Given the description of an element on the screen output the (x, y) to click on. 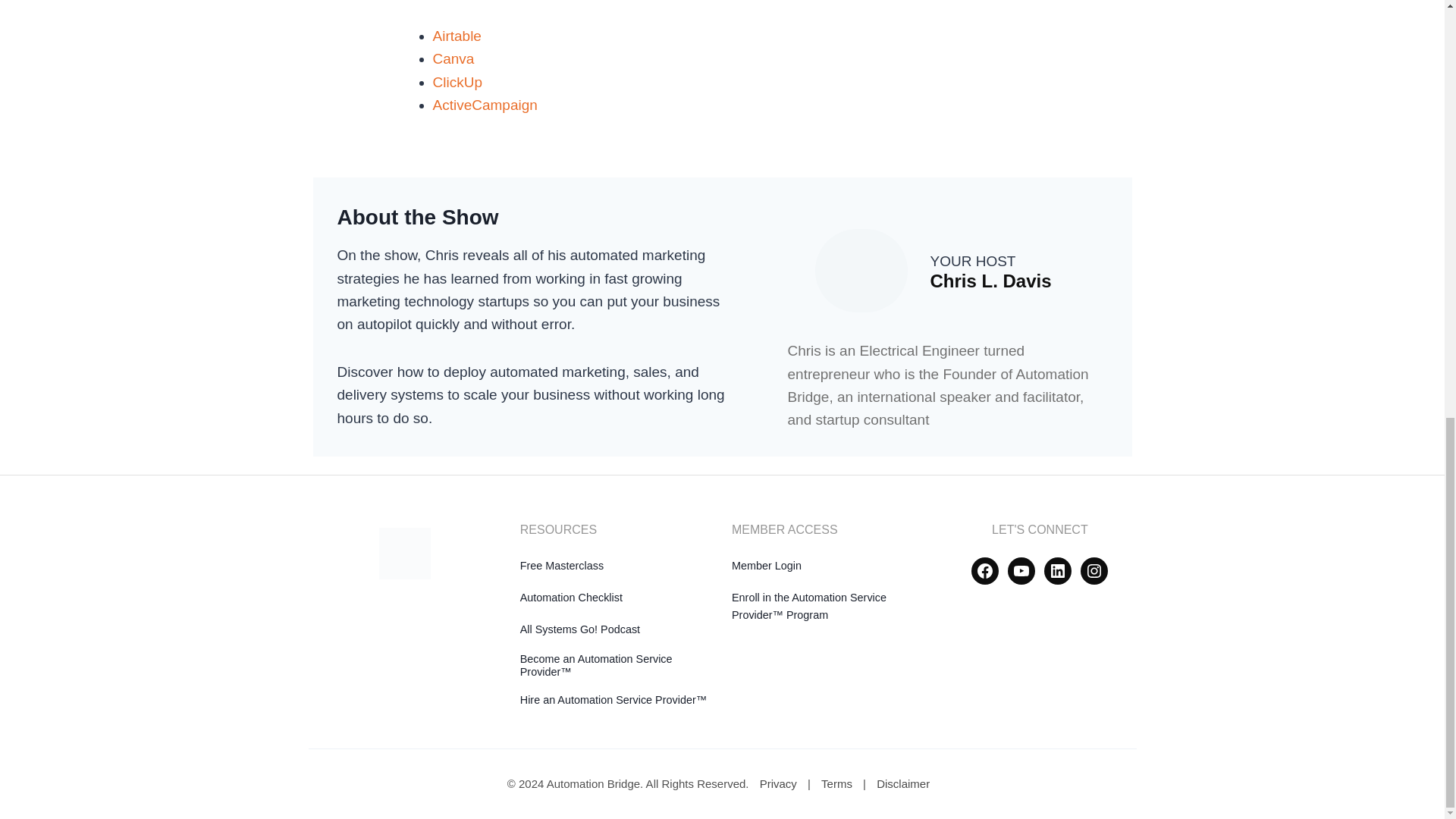
All Systems Go! Podcast (579, 629)
Airtable (456, 35)
Member Login (767, 565)
Canva (453, 58)
Privacy (778, 783)
ActiveCampaign (484, 105)
Disclaimer (903, 783)
Free Masterclass (561, 565)
Terms (836, 783)
Automation Checklist (571, 597)
ClickUp (456, 81)
